Given the description of an element on the screen output the (x, y) to click on. 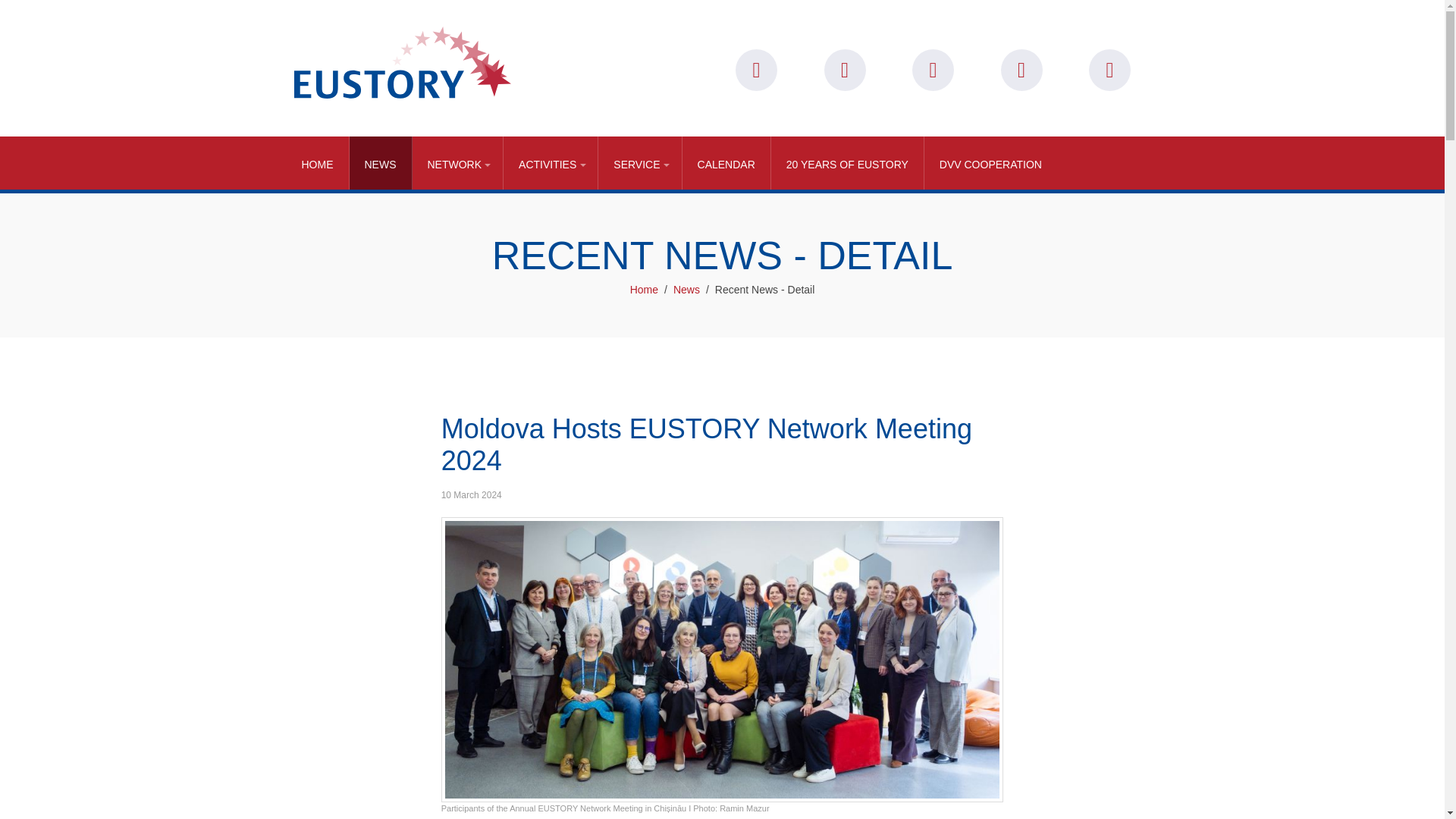
Visit us on Instagram (1110, 69)
ACTIVITIES (550, 162)
SERVICE (639, 162)
News (380, 162)
Home (644, 289)
Subscribe to our newsletter (756, 69)
NETWORK (457, 162)
Send us an email (844, 69)
CALENDAR (726, 162)
Call us (932, 69)
Home (317, 162)
Network (457, 162)
EUSTORY - History Network for Young European (402, 61)
HOME (317, 162)
Visit us on Facebook (1021, 69)
